Given the description of an element on the screen output the (x, y) to click on. 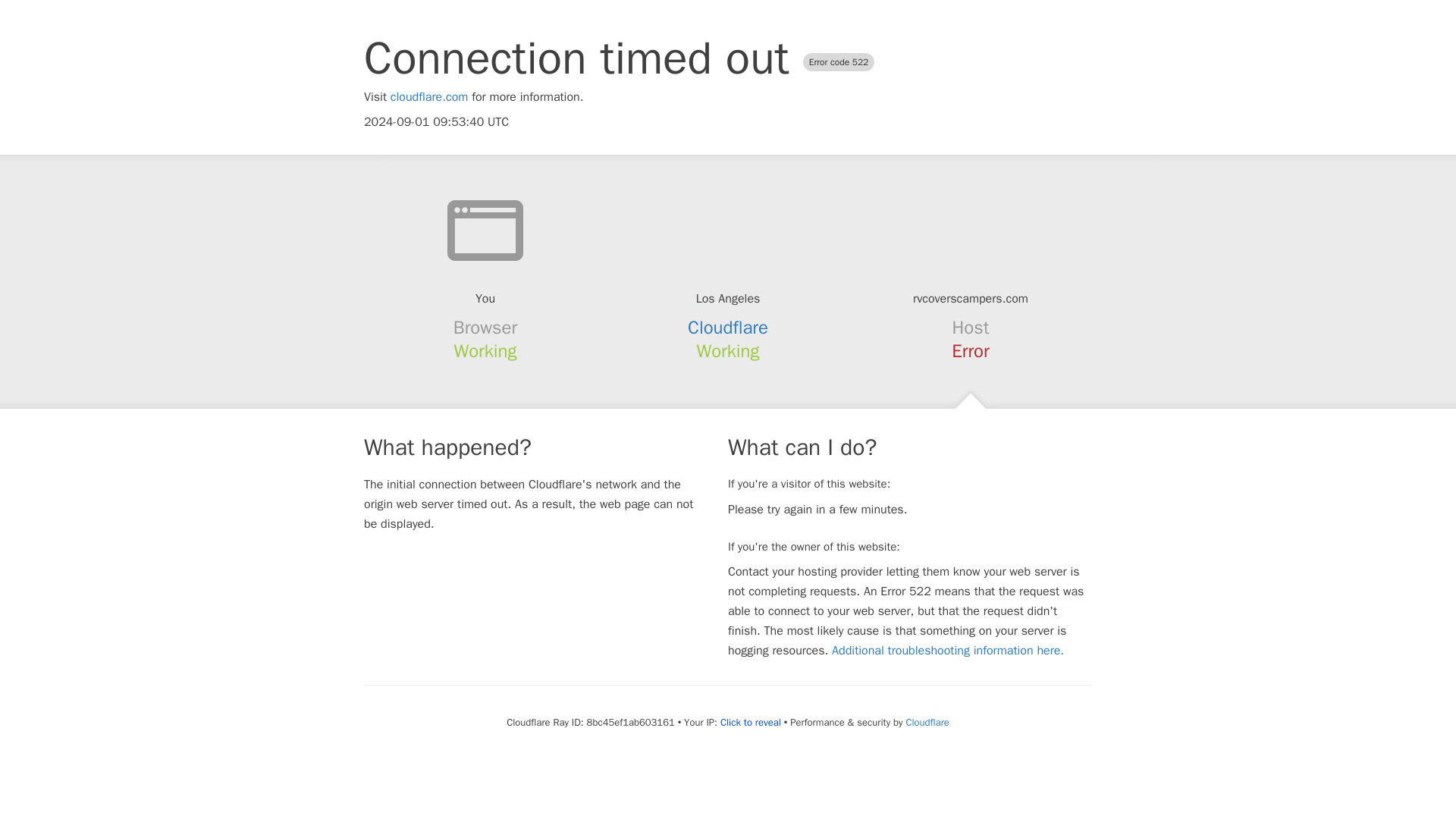
Cloudflare (727, 327)
Cloudflare (927, 721)
Additional troubleshooting information here. (947, 650)
Click to reveal (750, 722)
cloudflare.com (429, 96)
